Given the description of an element on the screen output the (x, y) to click on. 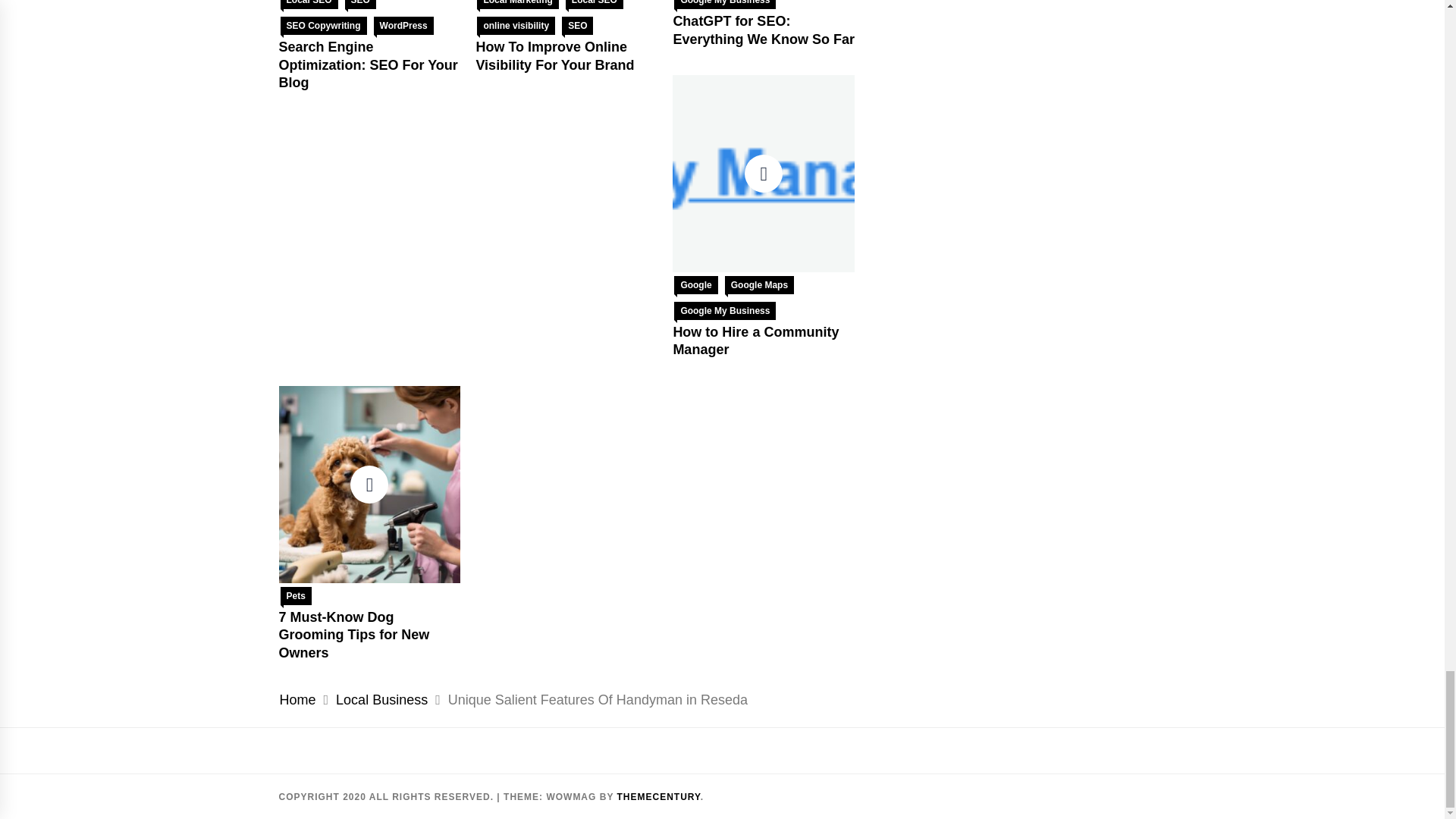
WordPress (403, 25)
SEO Copywriting (323, 25)
SEO (360, 4)
Local SEO (309, 4)
